Given the description of an element on the screen output the (x, y) to click on. 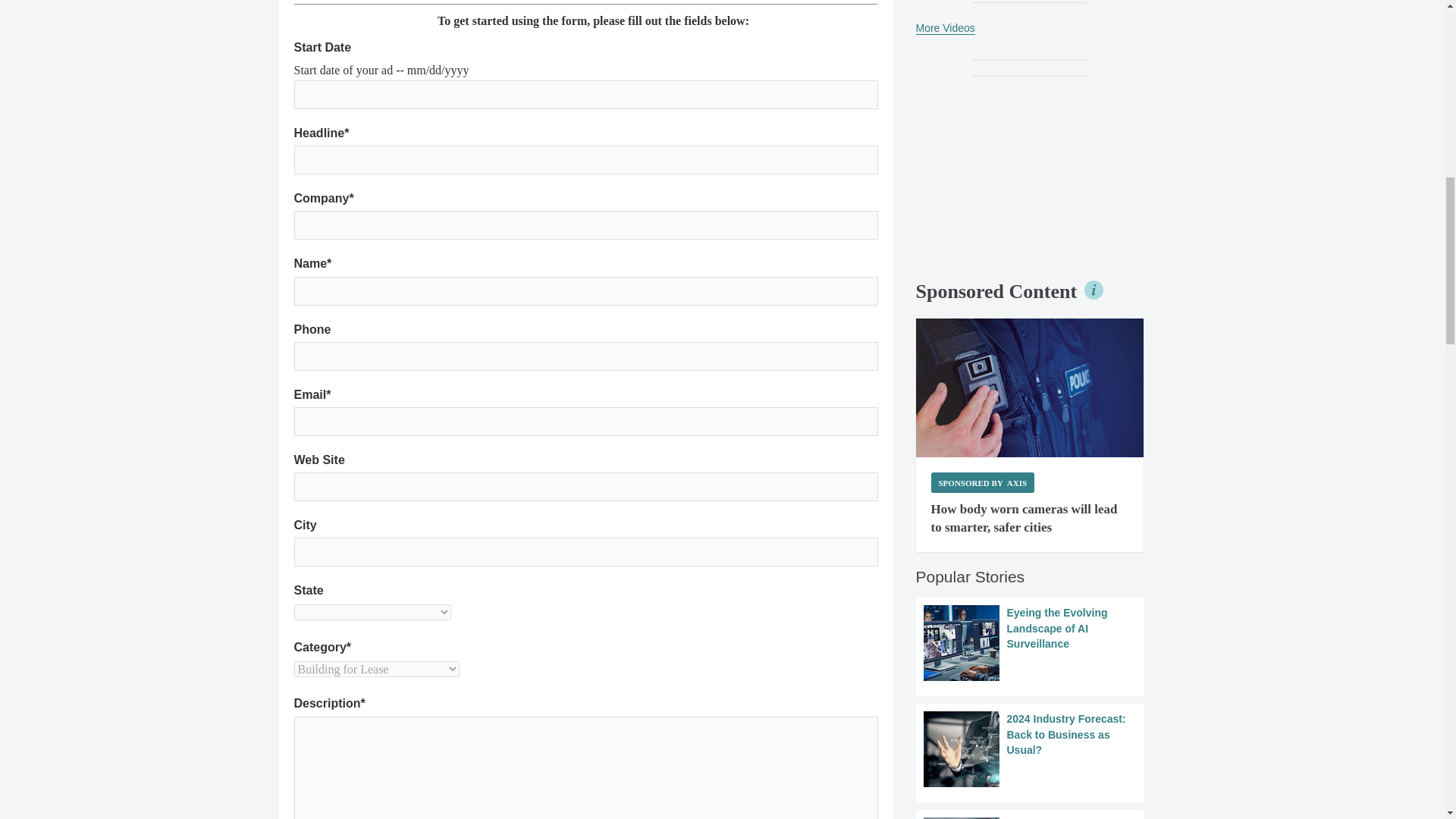
cameras (1028, 387)
Sponsored by Axis  (983, 482)
Eyeing the Evolving Landscape of AI Surveillance (1029, 642)
2024 Industry Forecast: Back to Business as Usual? (1029, 749)
